Given the description of an element on the screen output the (x, y) to click on. 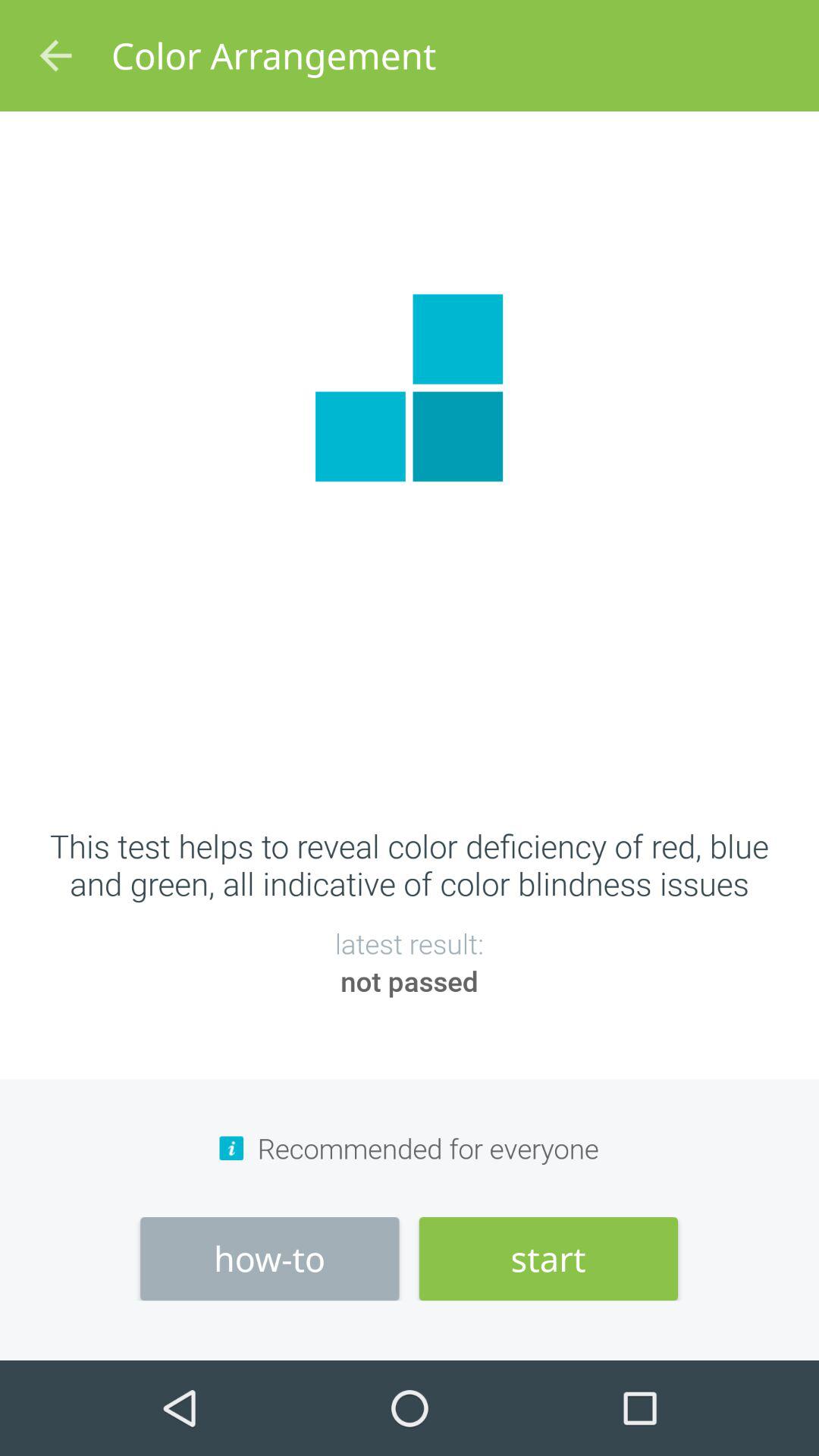
press start at the bottom right corner (548, 1258)
